Given the description of an element on the screen output the (x, y) to click on. 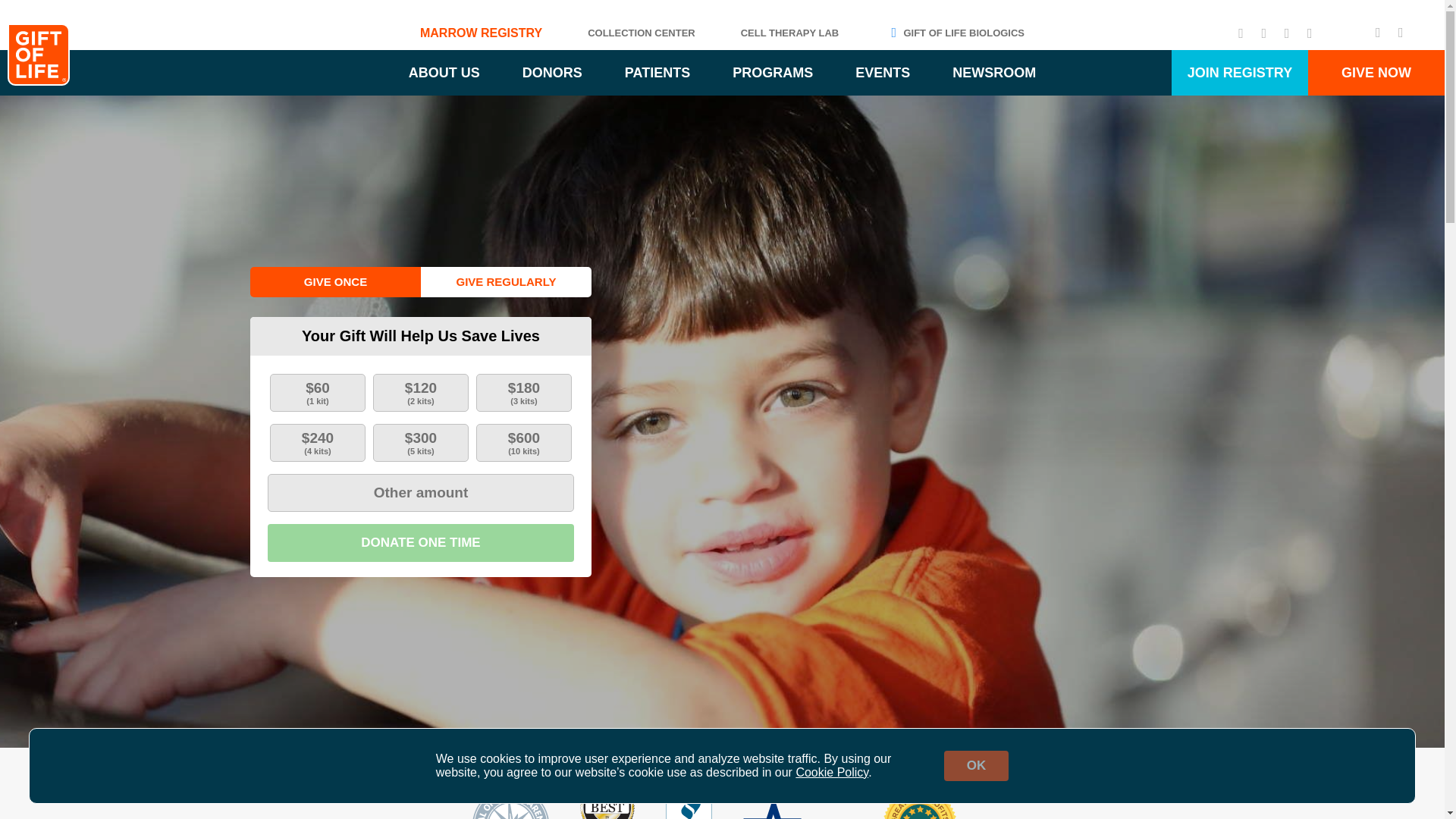
COLLECTION CENTER (641, 32)
MARROW REGISTRY (480, 32)
GIFT OF LIFE BIOLOGICS (954, 32)
CELL THERAPY LAB (790, 32)
